Given the description of an element on the screen output the (x, y) to click on. 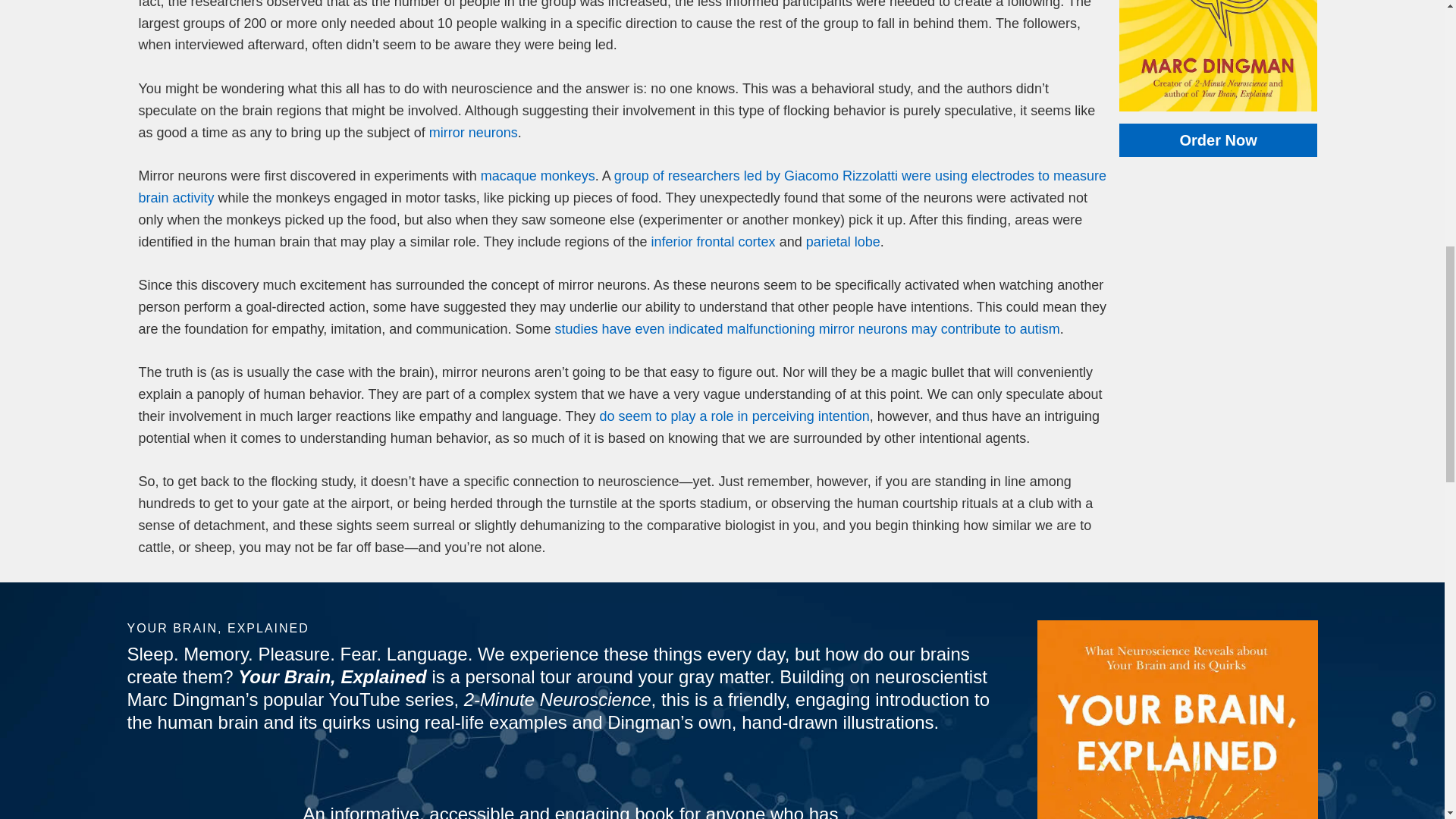
do seem to play a role in perceiving intention (734, 416)
parietal lobe (843, 241)
Order Now (1218, 139)
macaque monkeys (537, 175)
inferior frontal cortex  (714, 241)
mirror neurons (473, 132)
